Given the description of an element on the screen output the (x, y) to click on. 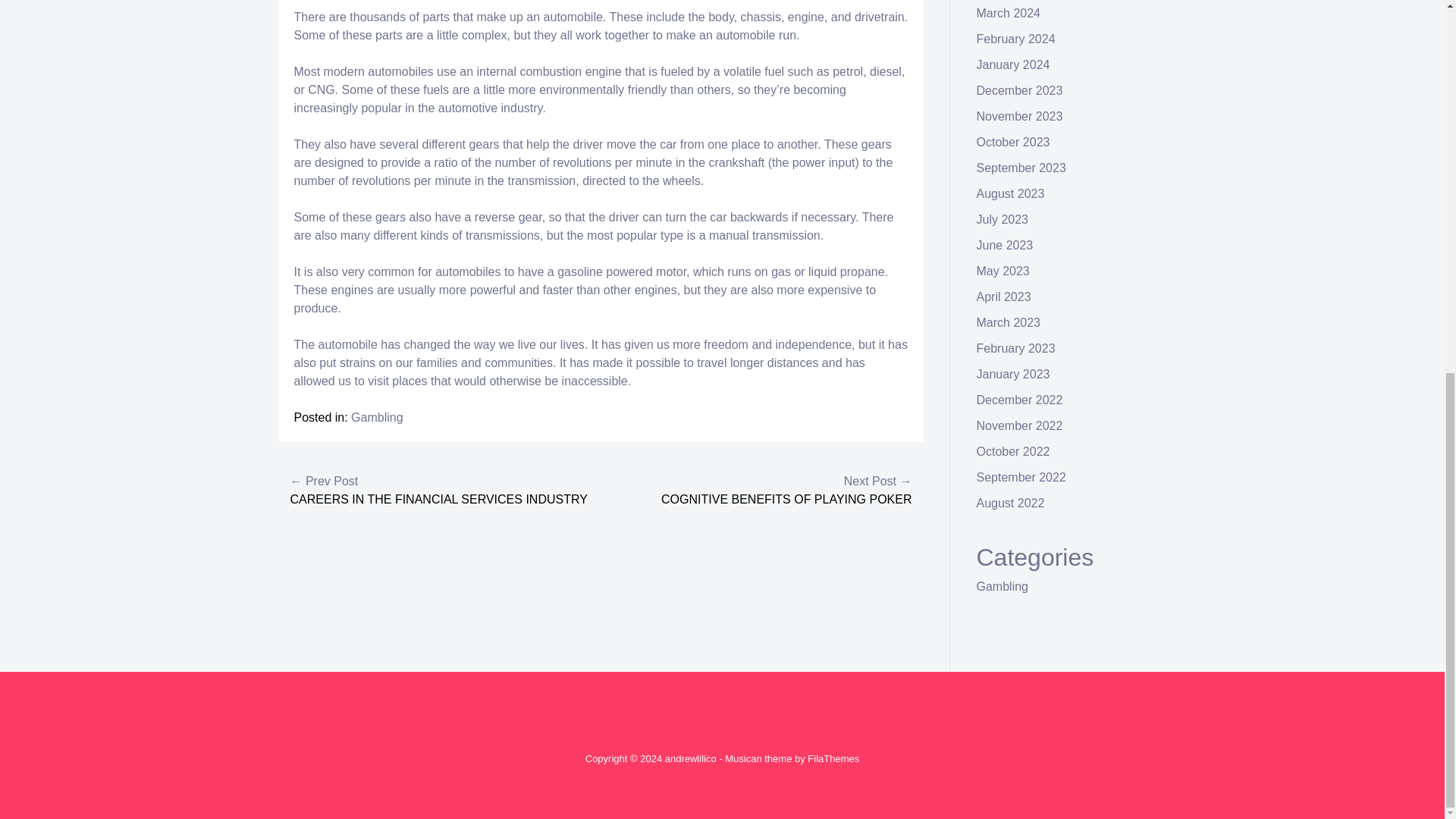
November 2023 (1019, 115)
August 2023 (1010, 193)
July 2023 (1002, 219)
September 2023 (1020, 167)
May 2023 (1002, 270)
January 2024 (1012, 64)
March 2024 (1008, 12)
August 2022 (1010, 502)
October 2022 (1012, 451)
March 2023 (1008, 322)
February 2024 (1015, 38)
June 2023 (1004, 245)
November 2022 (1019, 425)
andrewlilico (690, 758)
October 2023 (1012, 141)
